Given the description of an element on the screen output the (x, y) to click on. 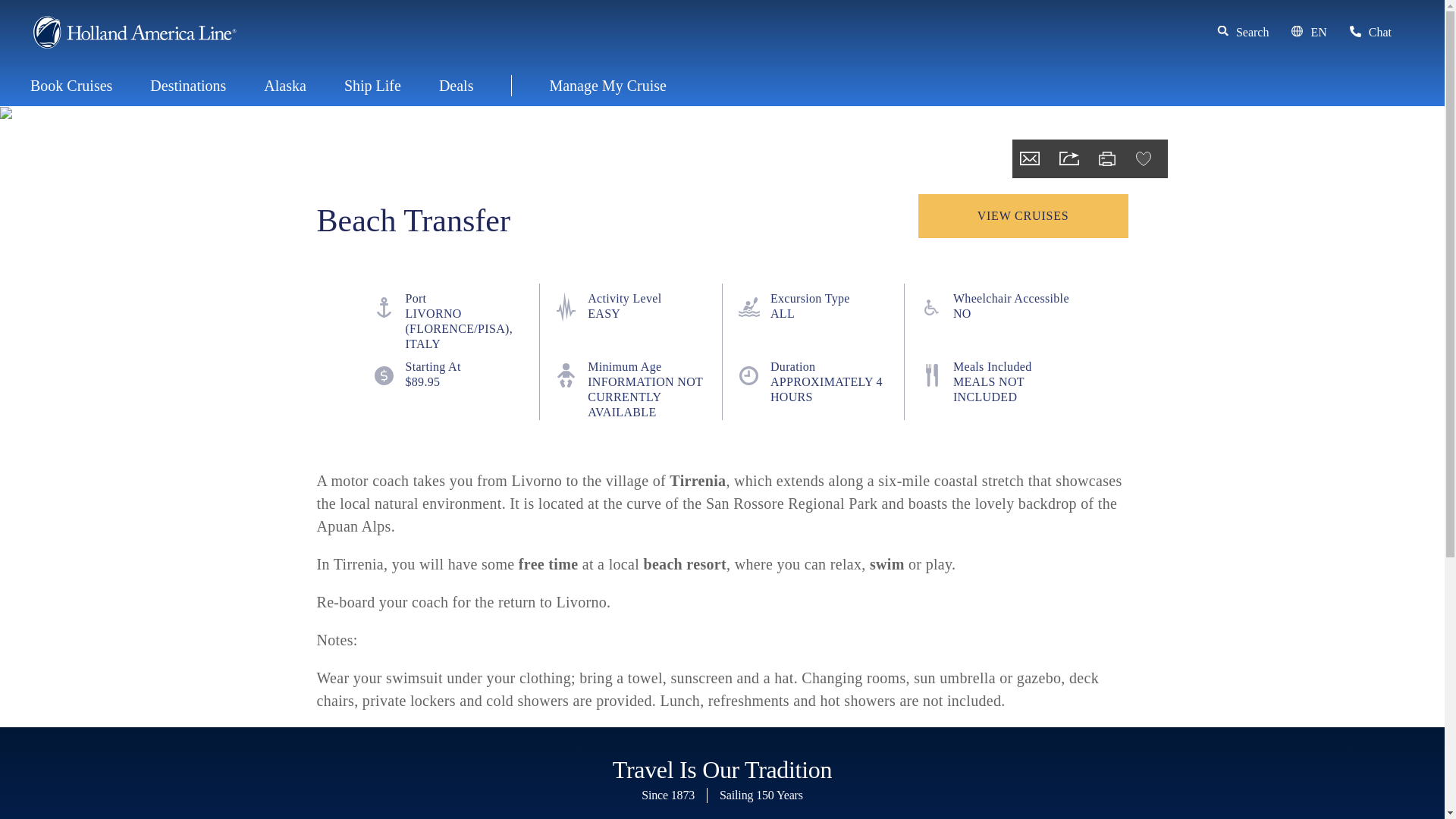
Chat (1370, 32)
Book Cruises (71, 86)
Logotype Holland America Line (134, 32)
EN (1308, 32)
Search (1243, 32)
